Given the description of an element on the screen output the (x, y) to click on. 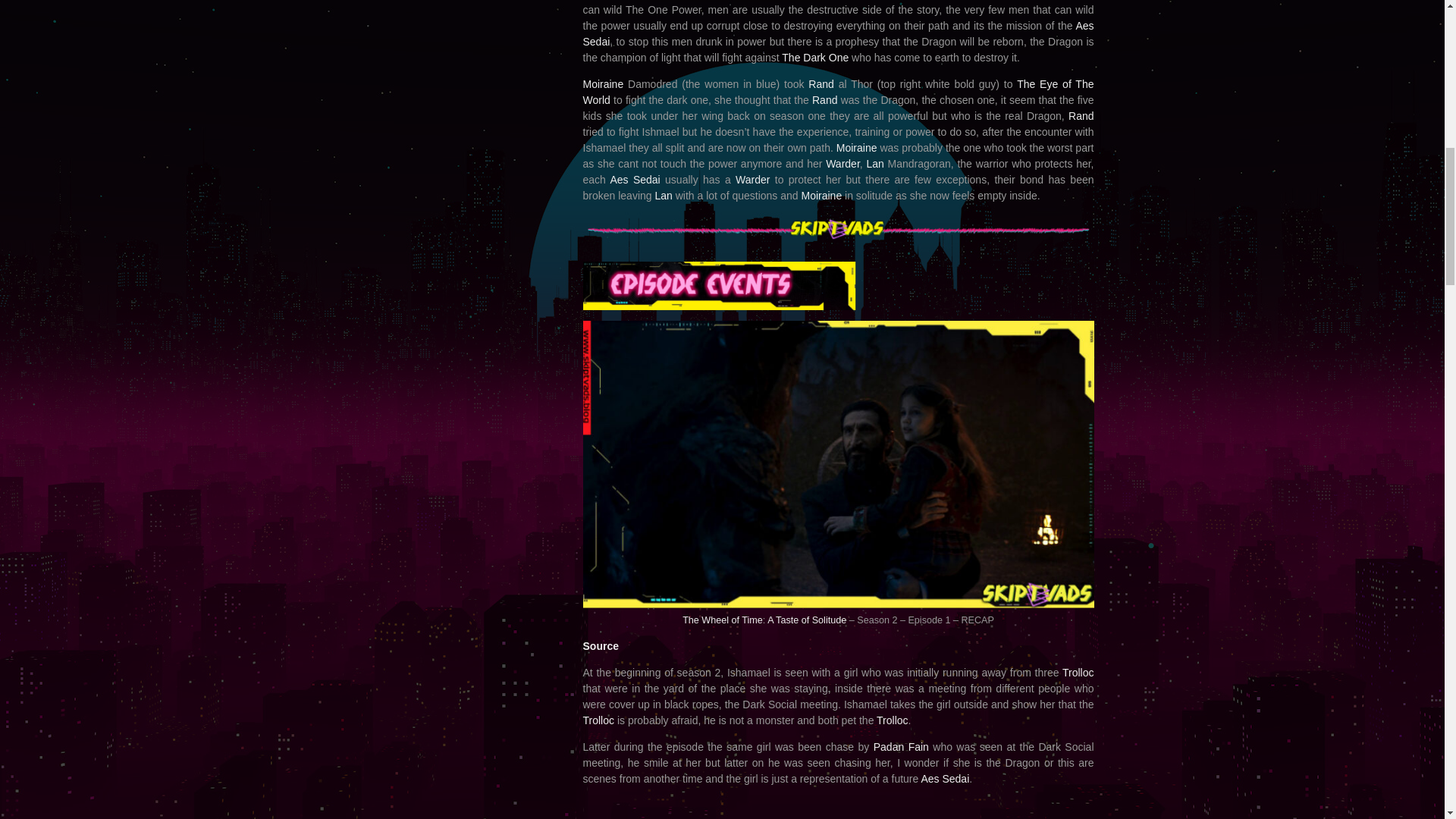
The Eye of The World (837, 91)
Moiraine (602, 83)
Aes Sedai (837, 33)
Rand (824, 100)
Rand (820, 83)
The Dark One (814, 57)
